Given the description of an element on the screen output the (x, y) to click on. 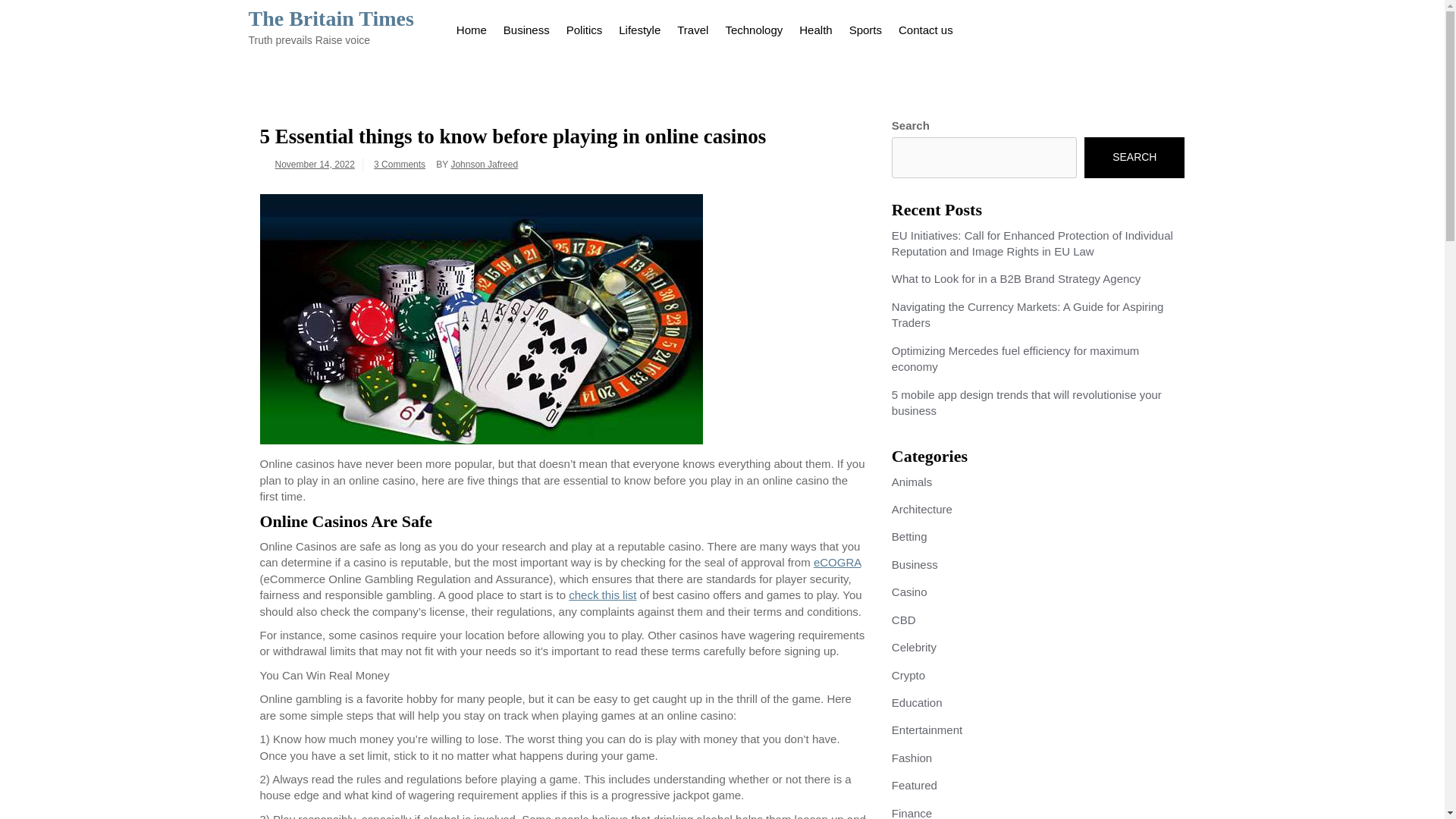
Johnson Jafreed (483, 163)
Contact us (924, 28)
What to Look for in a B2B Brand Strategy Agency (1016, 278)
Sports (865, 28)
Technology (753, 28)
Travel (692, 28)
The Britain Times (330, 18)
Home (471, 28)
Home (471, 28)
Sports (865, 28)
Travel (692, 28)
Lifestyle (639, 28)
eCOGRA (837, 562)
Contact us (924, 28)
